Given the description of an element on the screen output the (x, y) to click on. 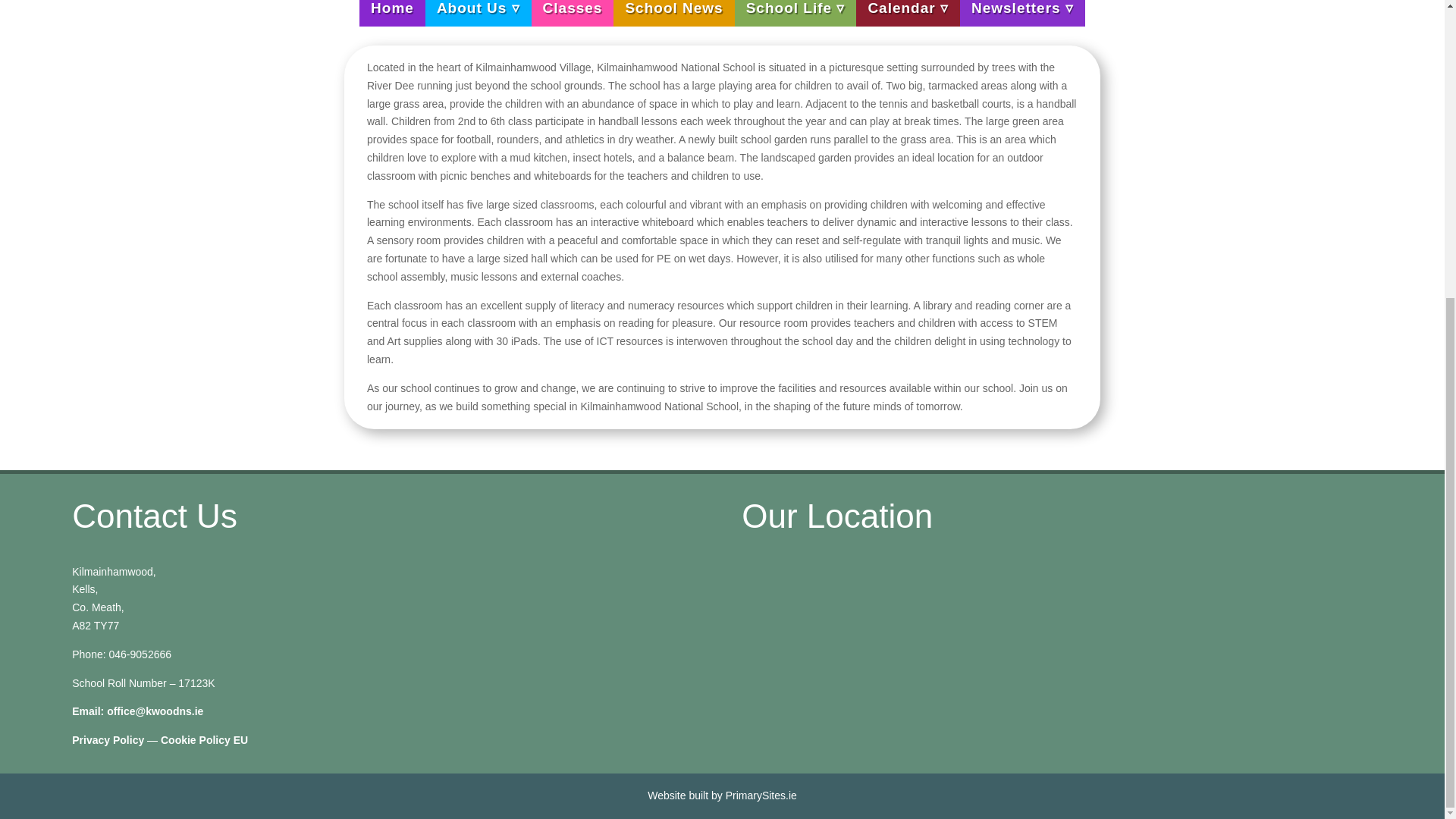
Privacy Policy (107, 739)
School News (672, 13)
Home (392, 13)
Cookie Policy EU (203, 739)
Classes (572, 13)
PrimarySites.ie (760, 795)
